Given the description of an element on the screen output the (x, y) to click on. 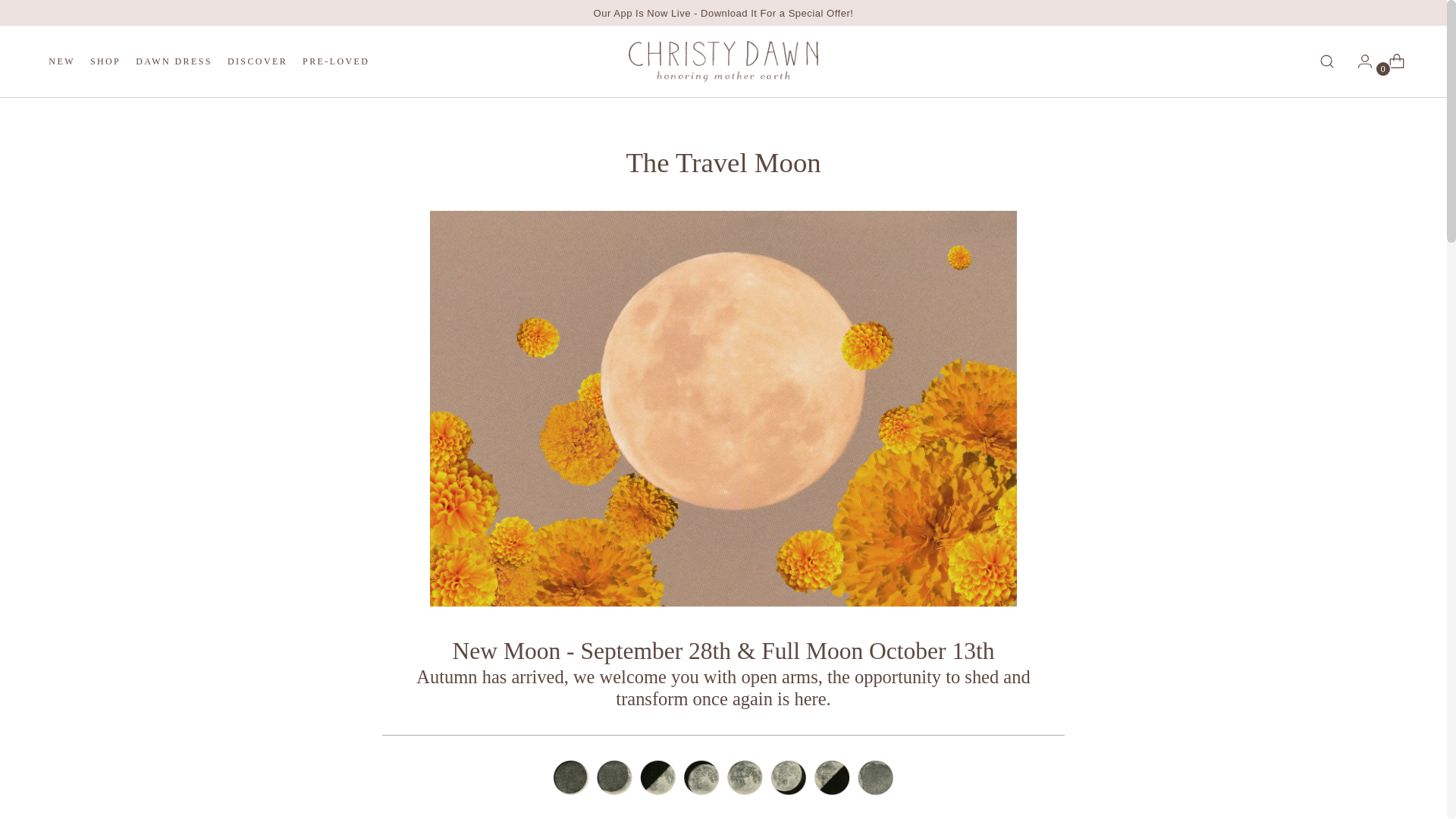
PRE-LOVED (335, 61)
DAWN DRESS (173, 61)
Our App Is Now Live - Download It For a Special Offer! (723, 12)
SHOP (105, 61)
DISCOVER (256, 61)
